Given the description of an element on the screen output the (x, y) to click on. 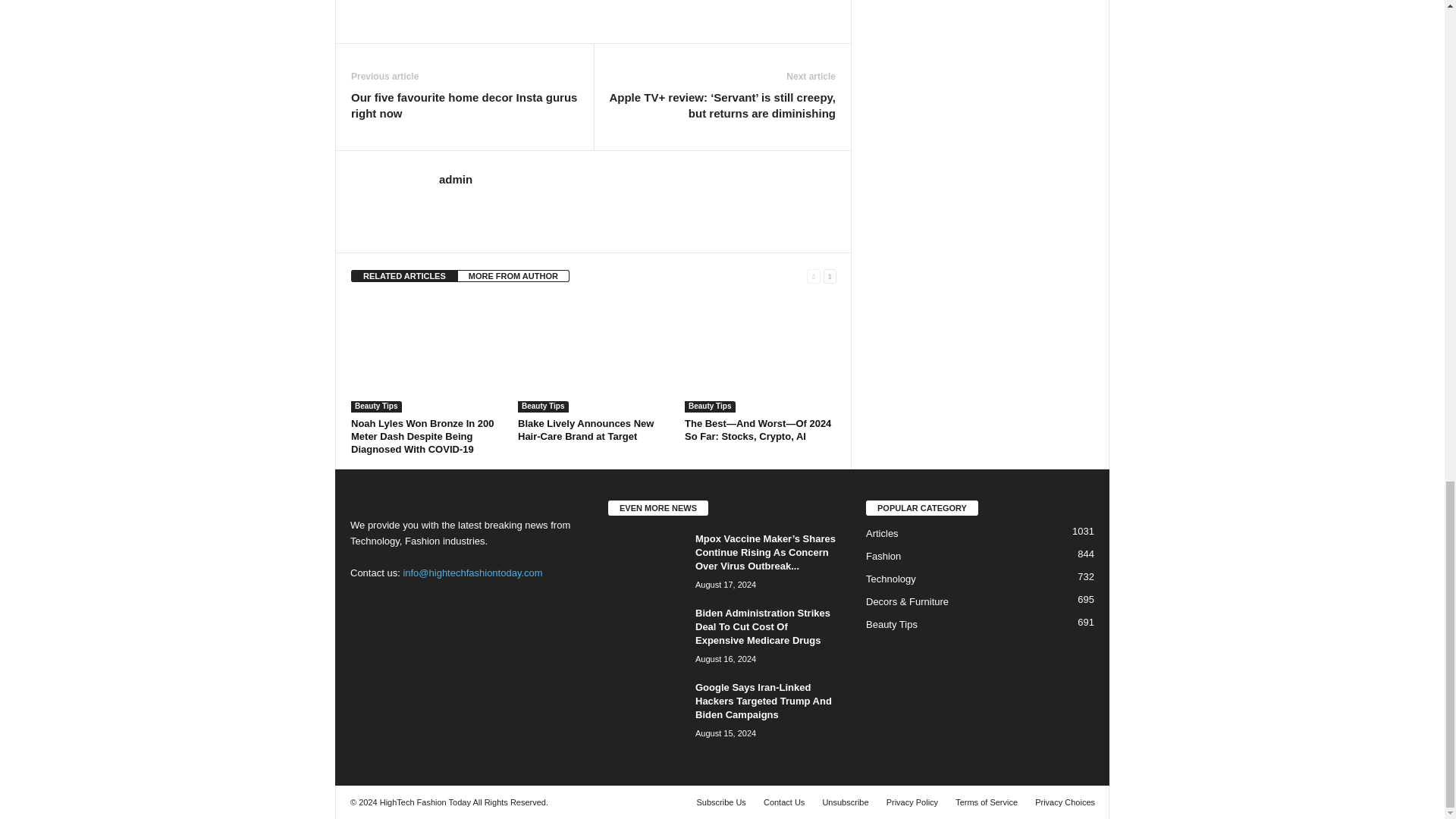
Blake Lively Announces New Hair-Care Brand at Target (585, 429)
Blake Lively Announces New Hair-Care Brand at Target (593, 354)
